Given the description of an element on the screen output the (x, y) to click on. 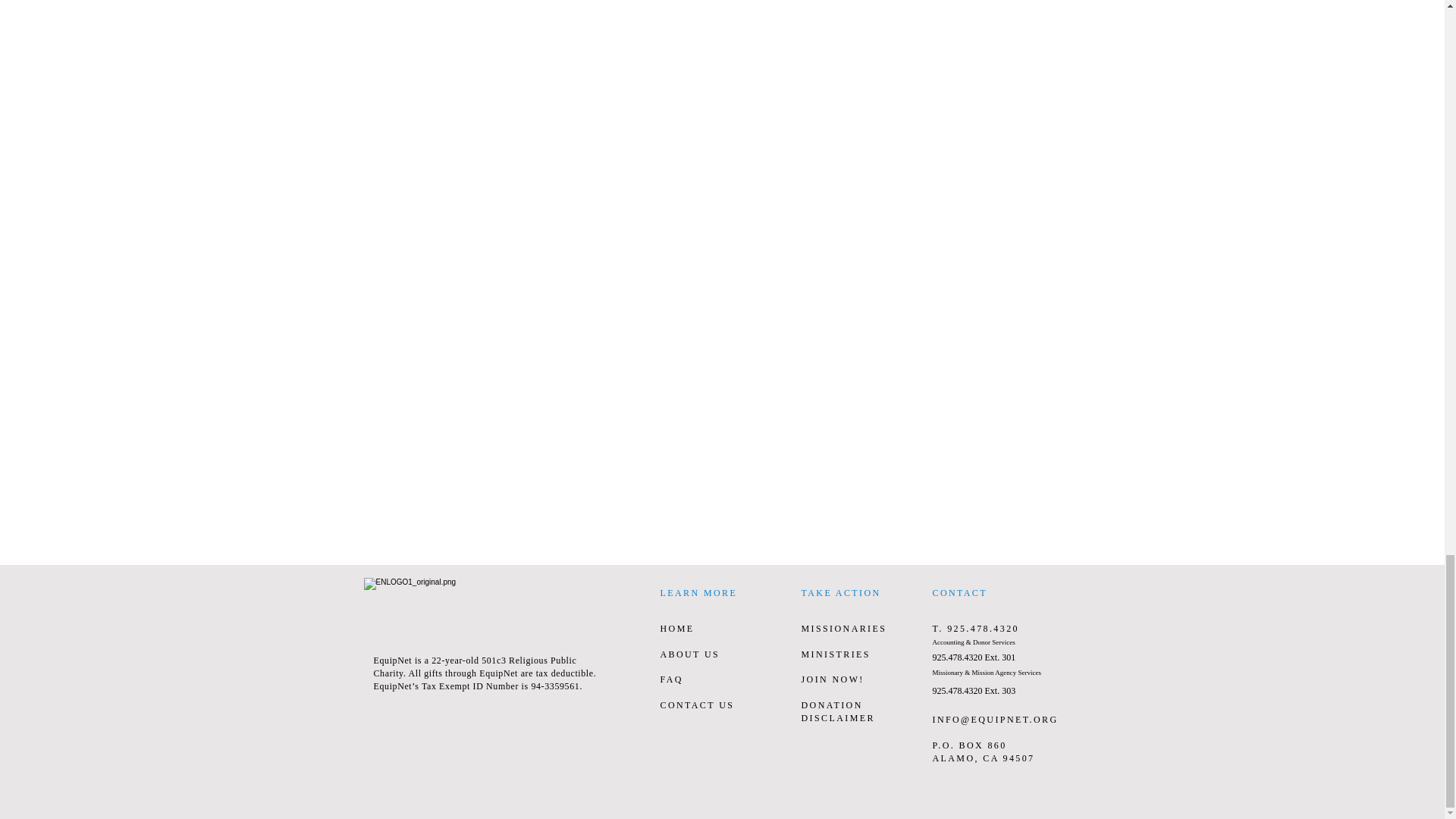
JOIN NOW! (831, 679)
FAQ (670, 679)
HOME (676, 628)
ABOUT US (689, 654)
MINISTRIES (834, 654)
MISSIONARIES (843, 628)
DONATION (830, 705)
CONTACT US (696, 705)
DISCLAIMER (837, 717)
